Given the description of an element on the screen output the (x, y) to click on. 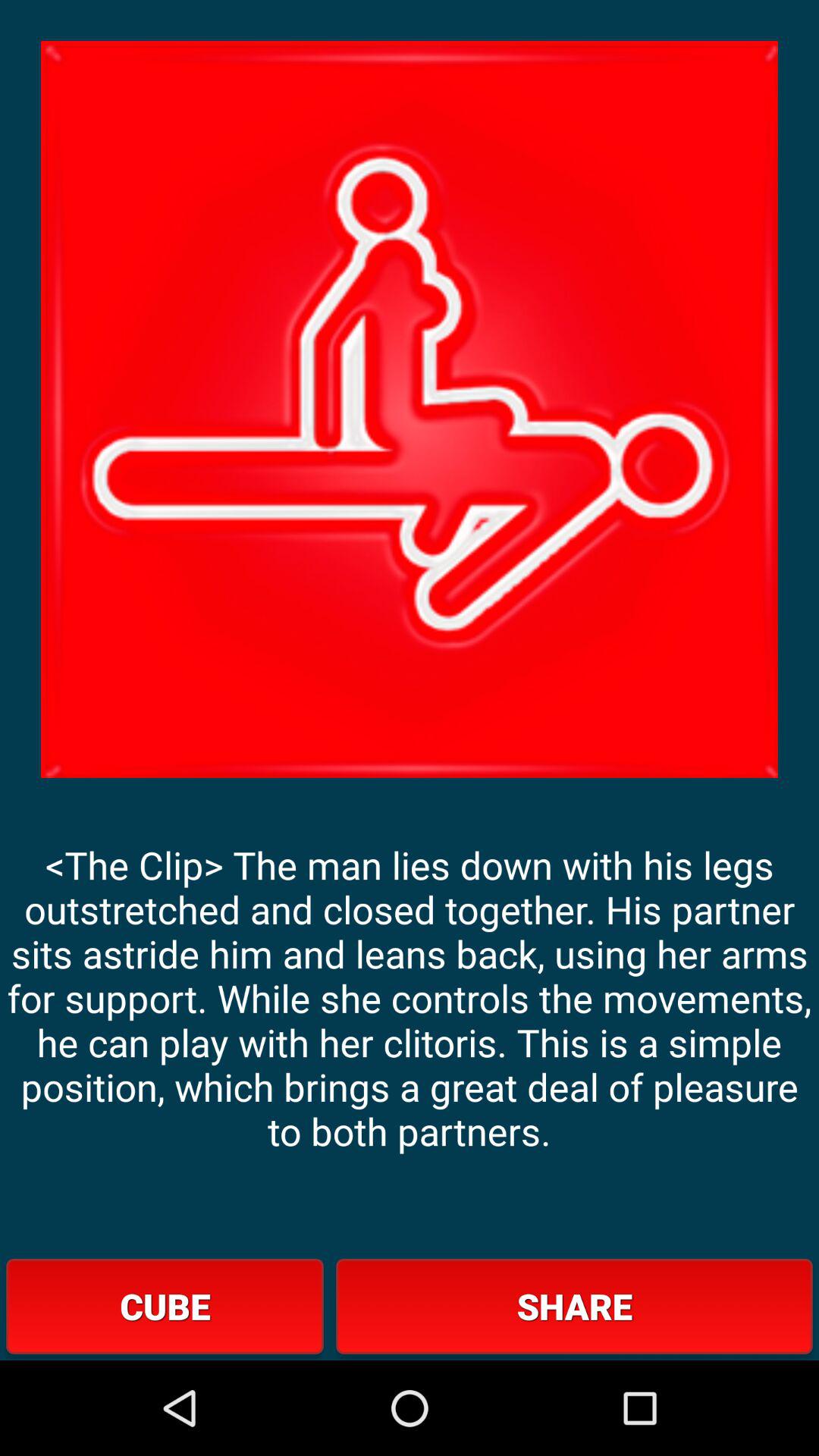
choose button to the left of share button (164, 1306)
